Given the description of an element on the screen output the (x, y) to click on. 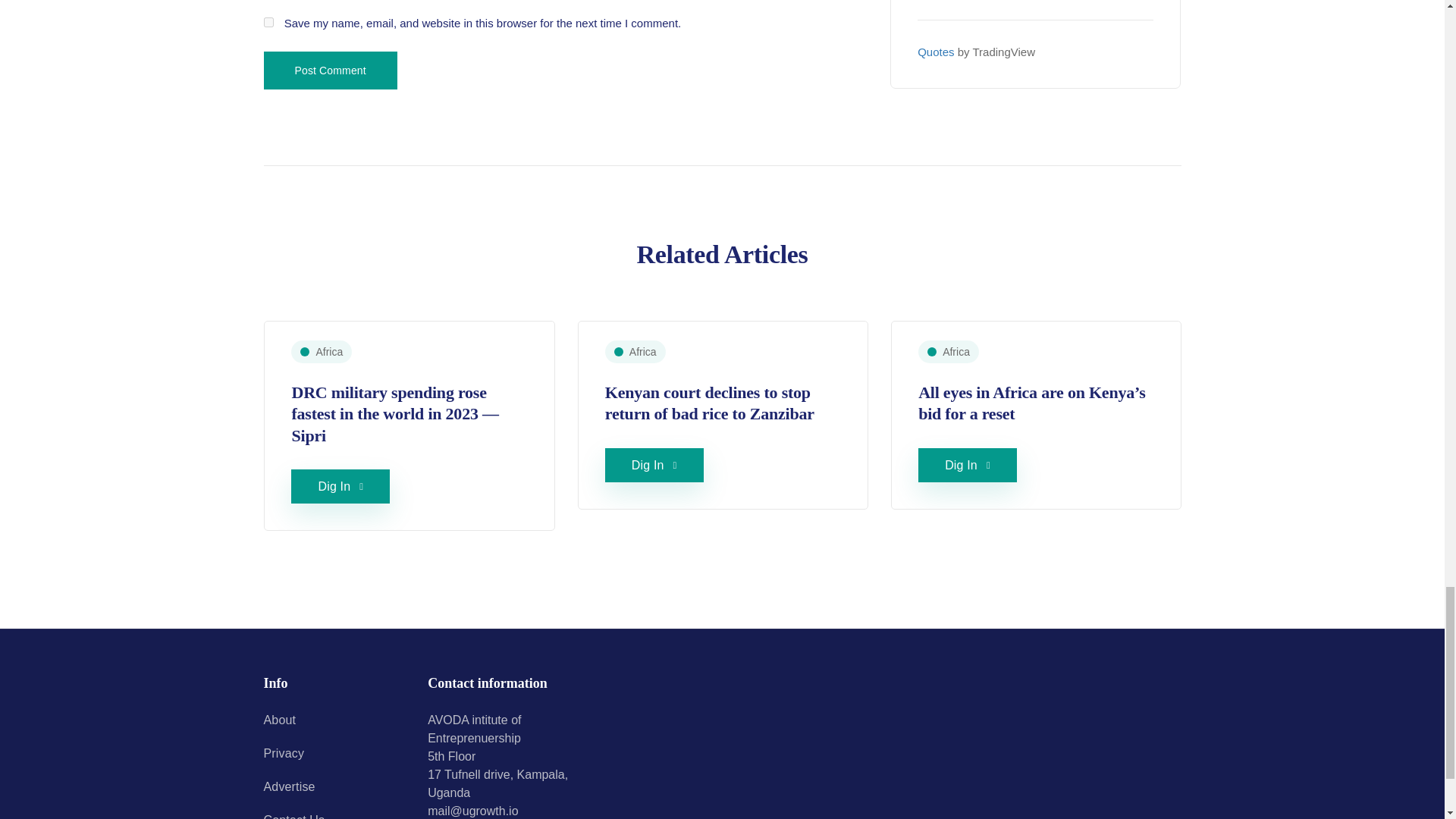
Kenyan court declines to stop return of bad rice to Zanzibar (709, 403)
Post Comment (330, 70)
Post Comment (330, 70)
yes (268, 22)
